Given the description of an element on the screen output the (x, y) to click on. 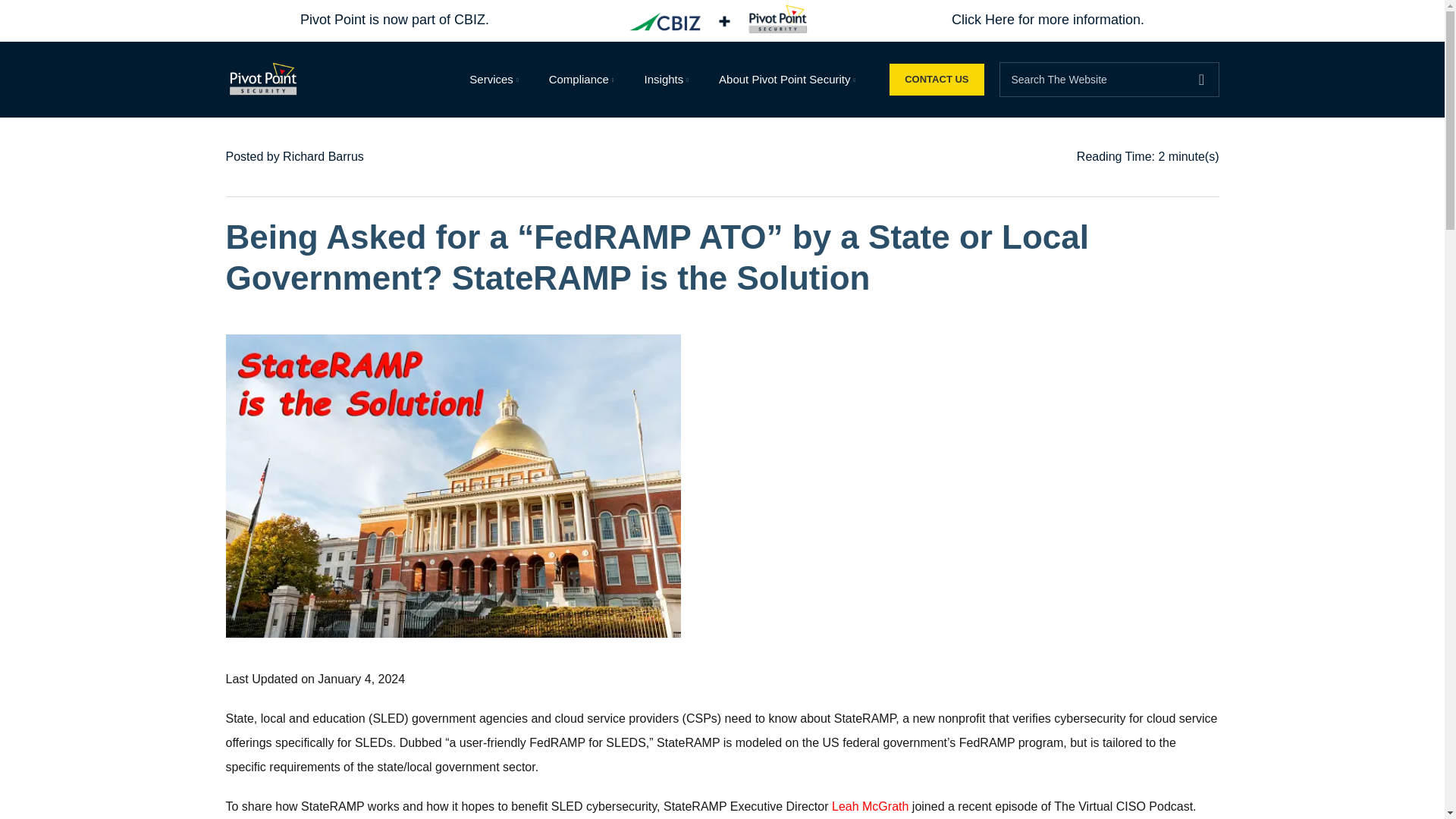
Click Here (983, 19)
Services (493, 79)
About Pivot Point Security (787, 79)
Insights (666, 79)
Compliance (581, 79)
Search for posts (1109, 79)
